Given the description of an element on the screen output the (x, y) to click on. 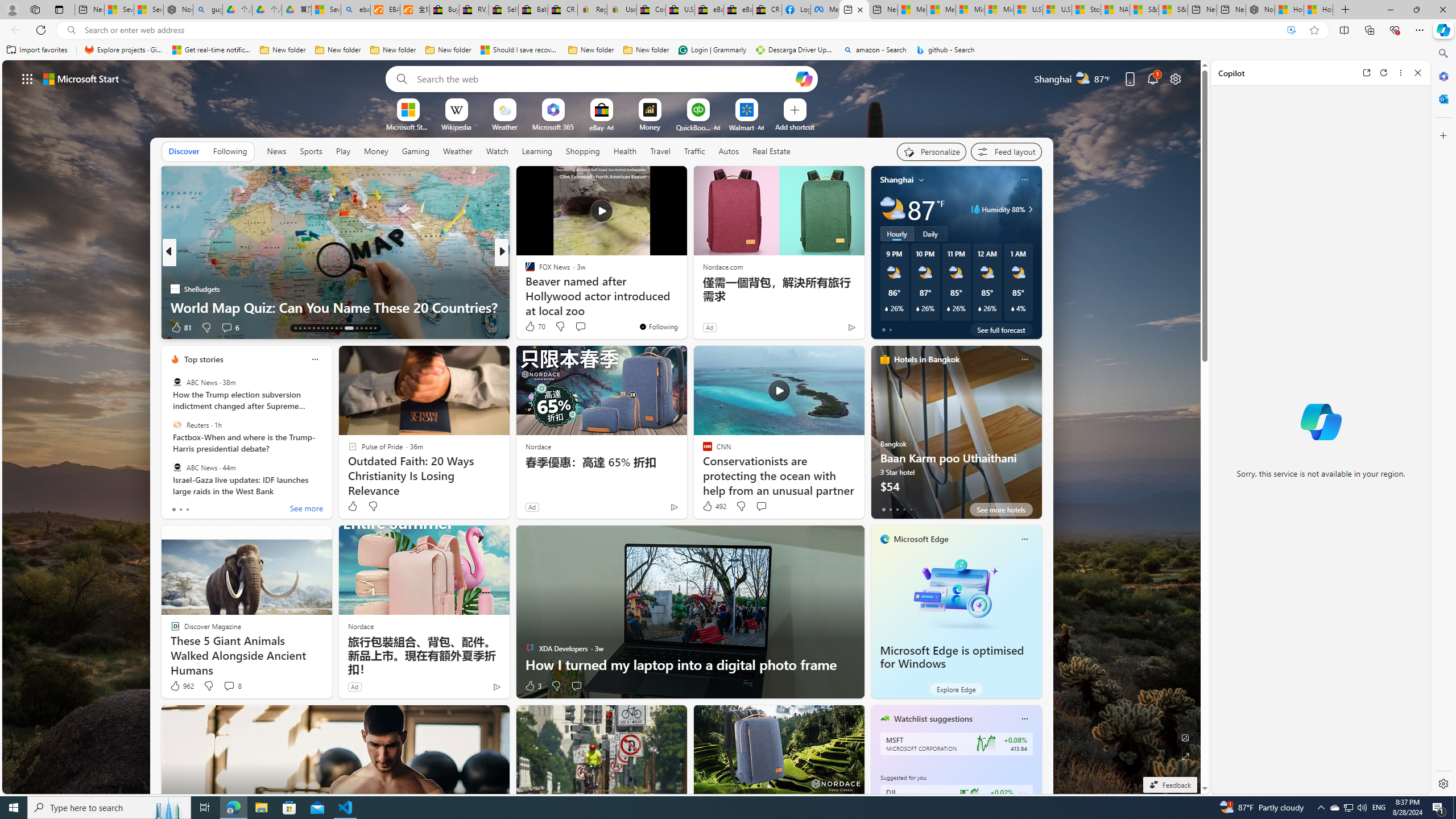
70 Like (534, 326)
Settings and more (Alt+F) (1419, 29)
Watch (496, 151)
To get missing image descriptions, open the context menu. (407, 109)
Sports (310, 151)
See more (306, 509)
View comments 6 Comment (226, 327)
Microsoft Edge is optimised for Windows (955, 592)
News (277, 151)
ebay - Search (355, 9)
Microsoft start (81, 78)
